Given the description of an element on the screen output the (x, y) to click on. 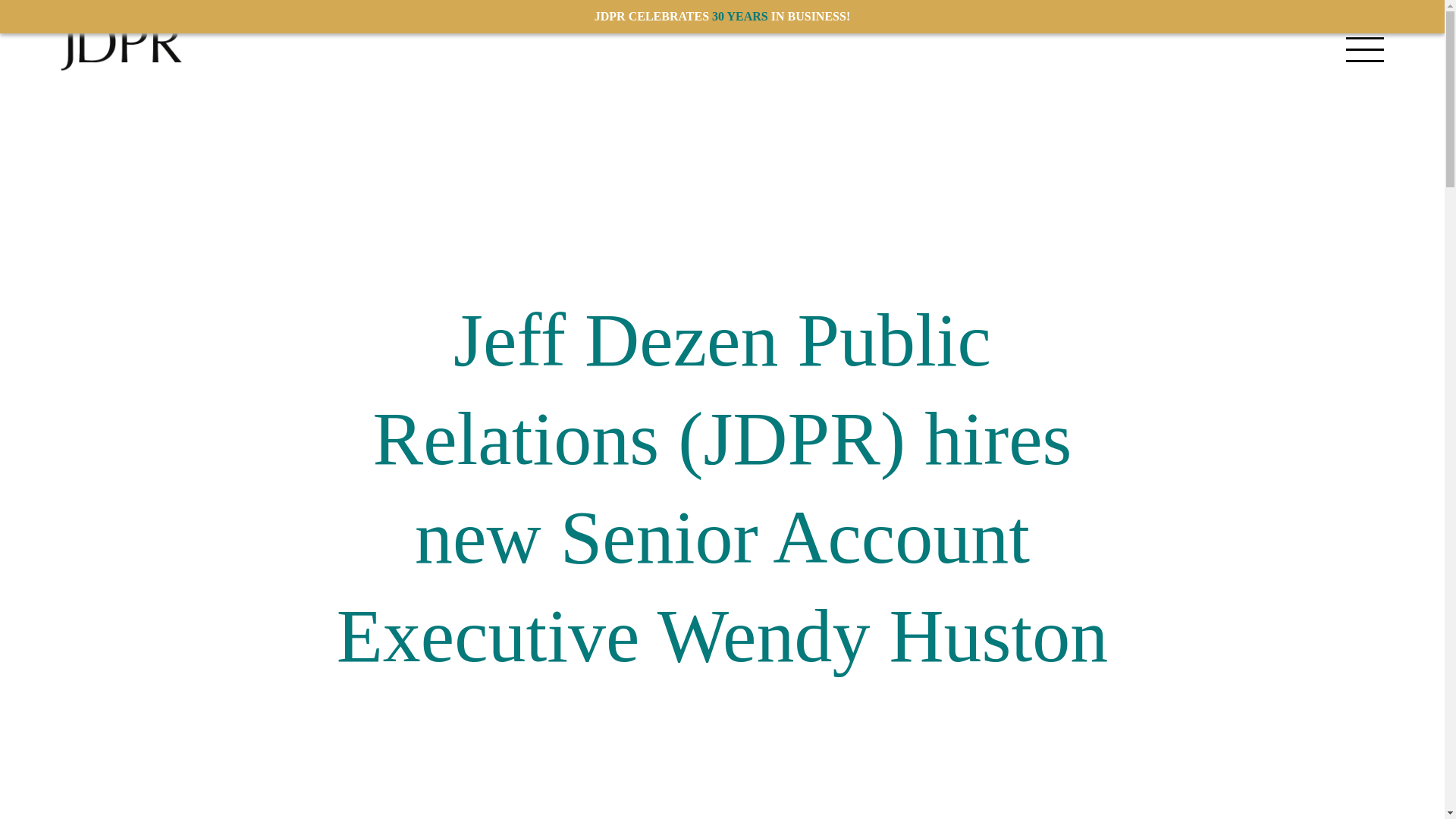
30 YEARS (739, 15)
logo (121, 48)
